Given the description of an element on the screen output the (x, y) to click on. 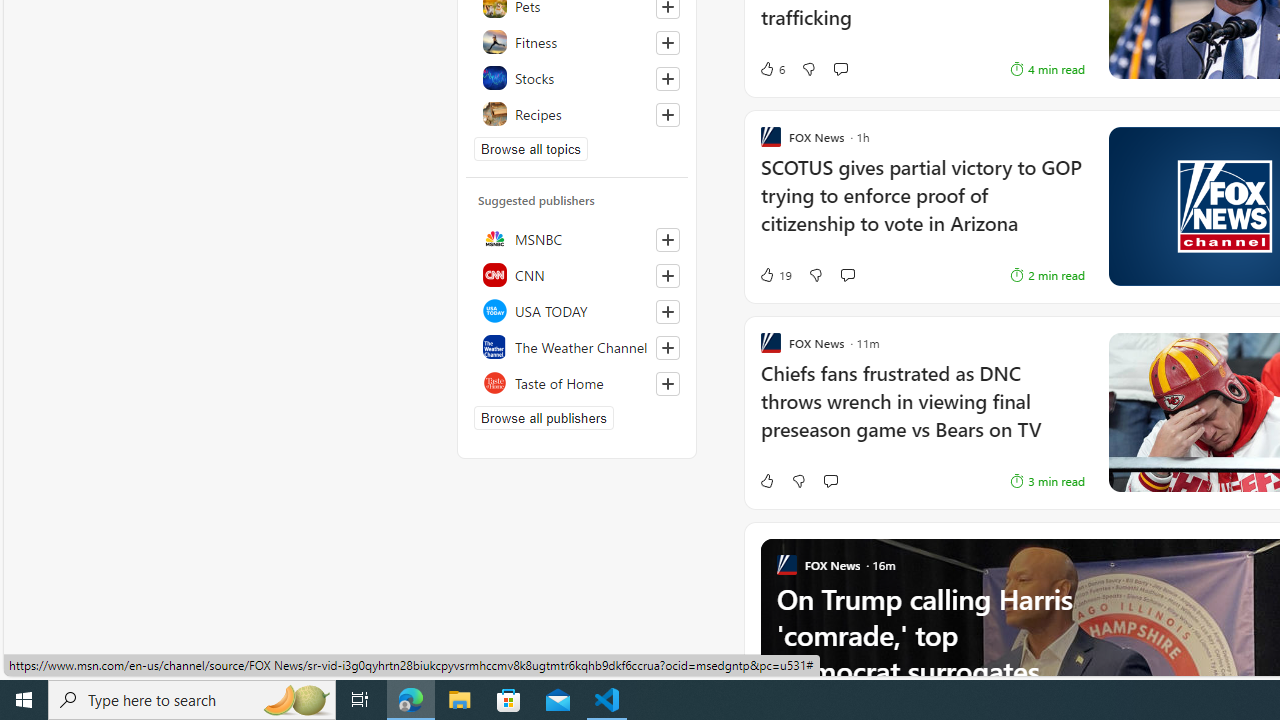
MSNBC (577, 238)
The Weather Channel (577, 346)
USA TODAY (577, 310)
Fitness (577, 42)
Follow this source (667, 384)
6 Like (771, 68)
Stocks (577, 78)
Browse all topics (530, 148)
Taste of Home (577, 382)
Follow this source (667, 384)
